Given the description of an element on the screen output the (x, y) to click on. 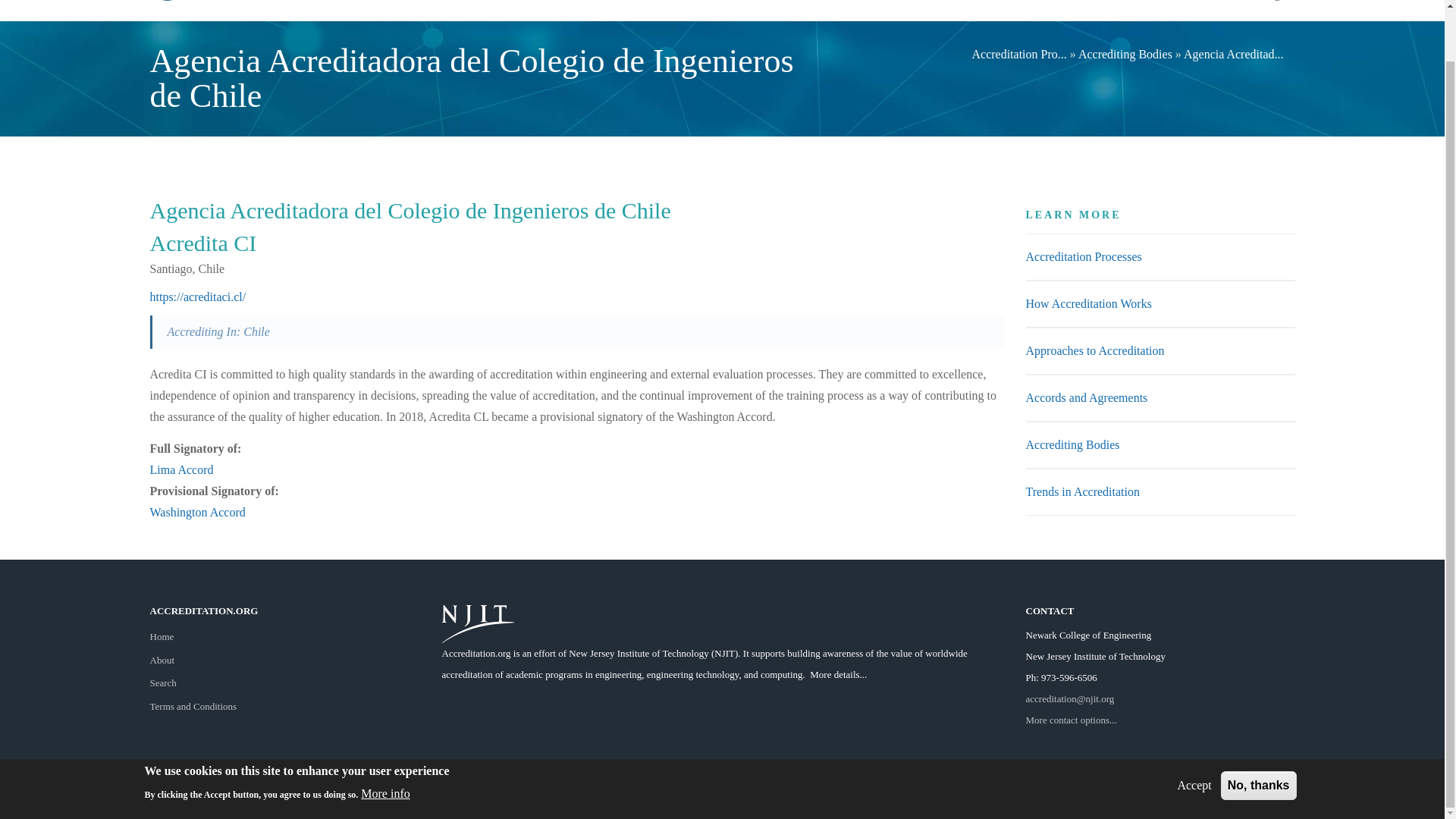
RESOURCES (1053, 10)
Home (161, 636)
How Accreditation Works (1088, 303)
Agencia Acreditad... (1233, 53)
HOME (532, 10)
Contact Us (1070, 719)
Accrediting Bodies (1072, 444)
Accrediting Bodies (1125, 53)
Accords and Agreements (1086, 397)
WHY ACCREDITATION? (623, 10)
FIND ACCREDITED PROGRAMS (772, 10)
Accreditation Processes (1083, 256)
About (161, 659)
Trends in Accreditation (1082, 491)
Accreditation Pro... (1018, 53)
